Given the description of an element on the screen output the (x, y) to click on. 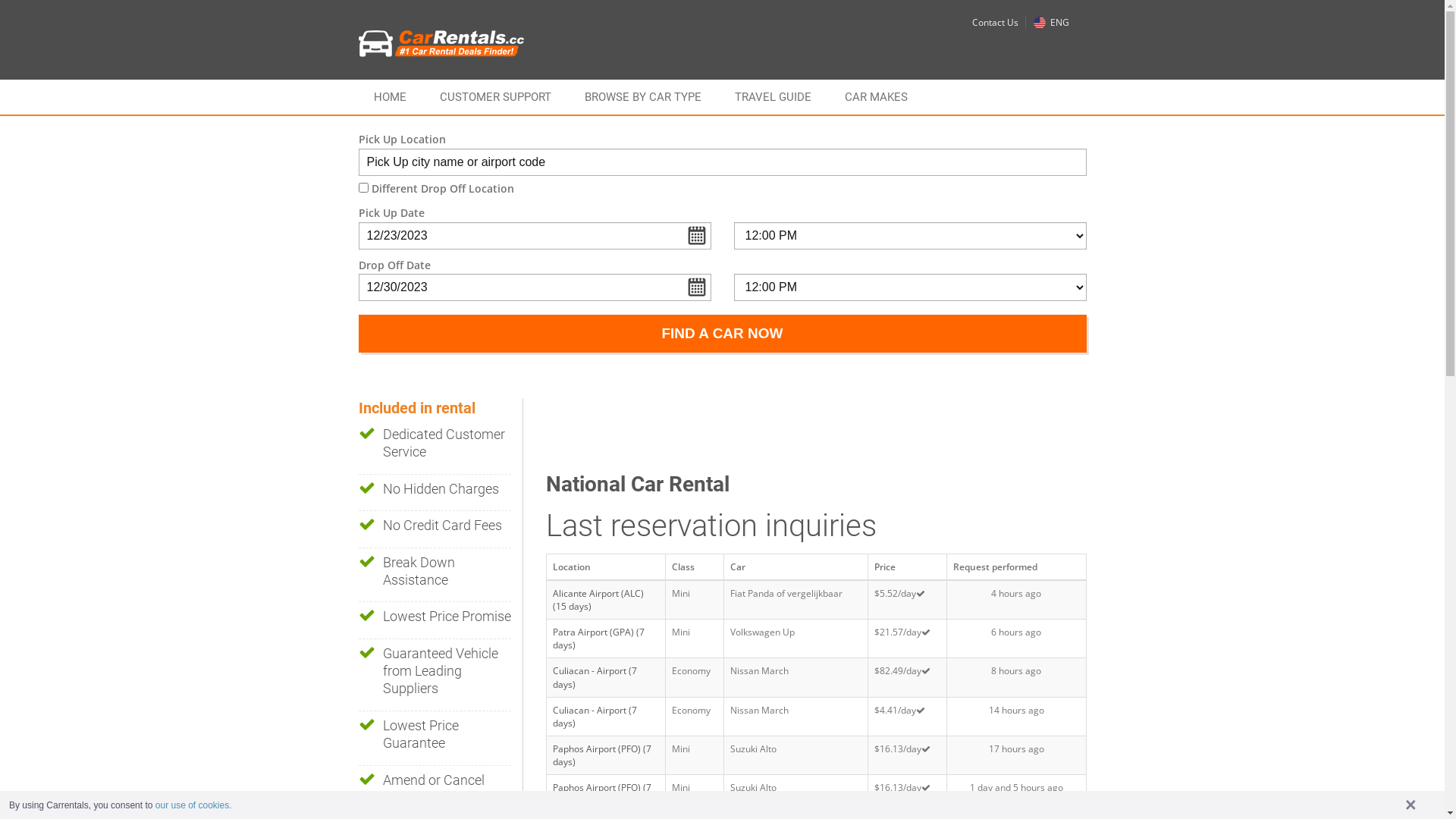
CAR MAKES Element type: text (875, 96)
FIND A CAR NOW Element type: text (721, 333)
Contact Us Element type: text (995, 21)
TRAVEL GUIDE Element type: text (771, 96)
ENG Element type: text (1050, 21)
HOME Element type: text (388, 96)
BROWSE BY CAR TYPE Element type: text (641, 96)
Advertisement Element type: hover (822, 432)
CUSTOMER SUPPORT Element type: text (495, 96)
en Element type: hover (1038, 22)
our use of cookies. Element type: text (193, 805)
